Given the description of an element on the screen output the (x, y) to click on. 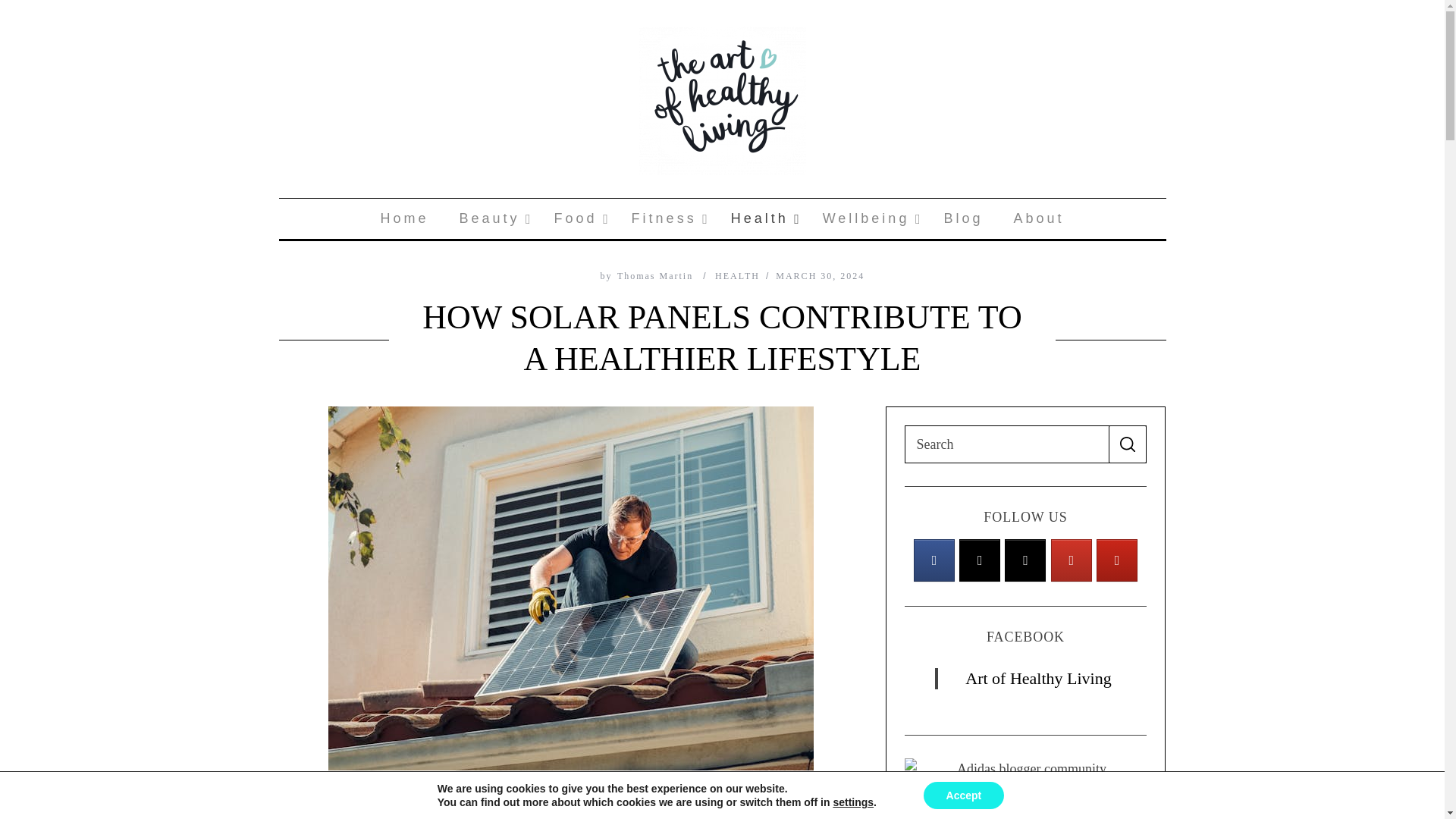
Fitness (665, 219)
The Art of Healthy Living on X Twitter (722, 219)
The Art of Healthy Living on Youtube (979, 559)
The Art of Healthy Living on Facebook (1071, 559)
Beauty (934, 559)
Food (491, 219)
The Art of Healthy Living on Pinterest (576, 219)
Home (1116, 559)
The Art of Healthy Living on Instagram (404, 219)
